Given the description of an element on the screen output the (x, y) to click on. 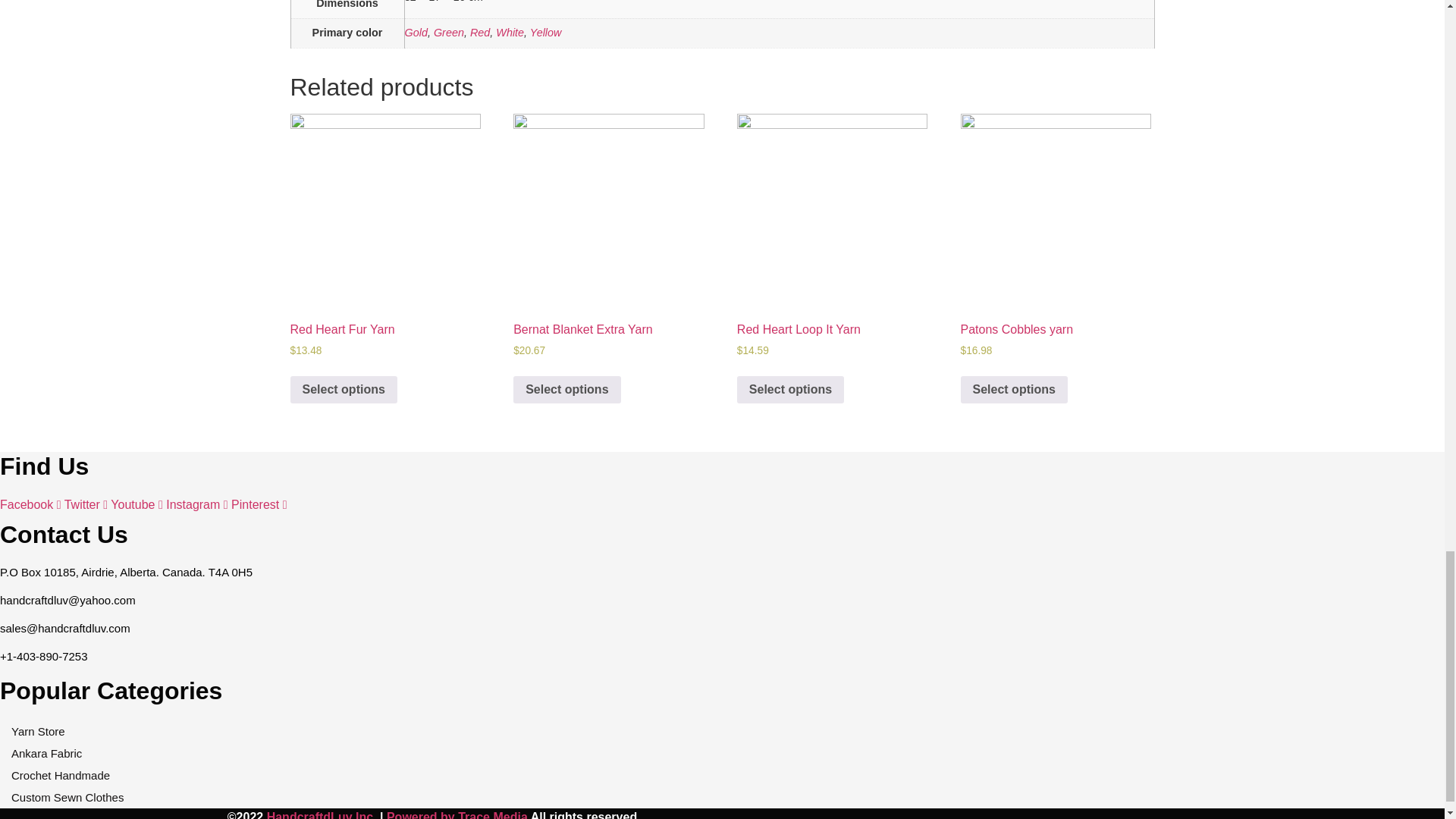
Select options (342, 389)
White (510, 32)
Gold (416, 32)
Green (448, 32)
Yellow (545, 32)
Red (479, 32)
